Given the description of an element on the screen output the (x, y) to click on. 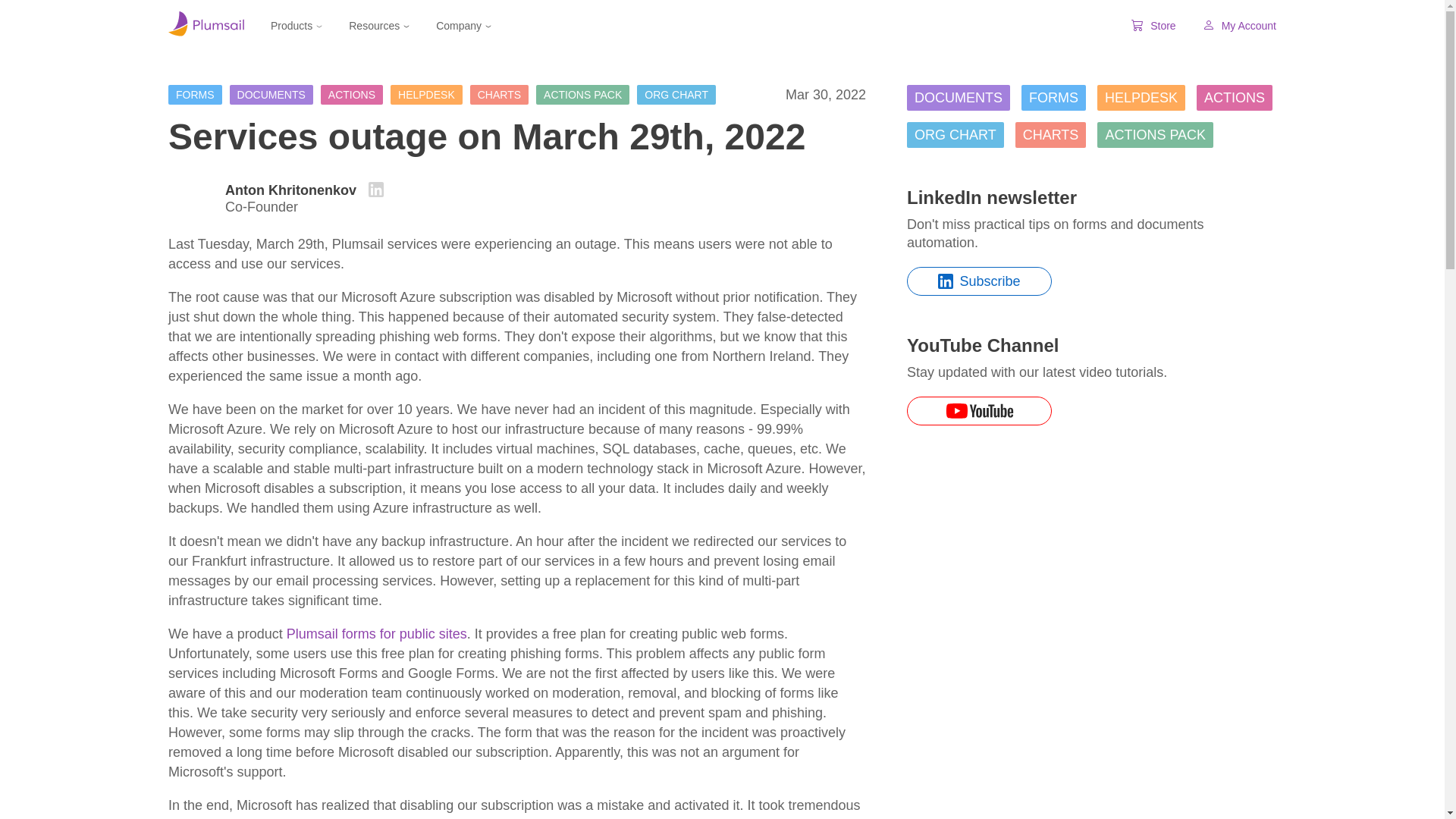
My Account (1239, 25)
Store (1152, 25)
Company (463, 25)
linkedin (376, 189)
Products (295, 25)
Resources (379, 25)
